Given the description of an element on the screen output the (x, y) to click on. 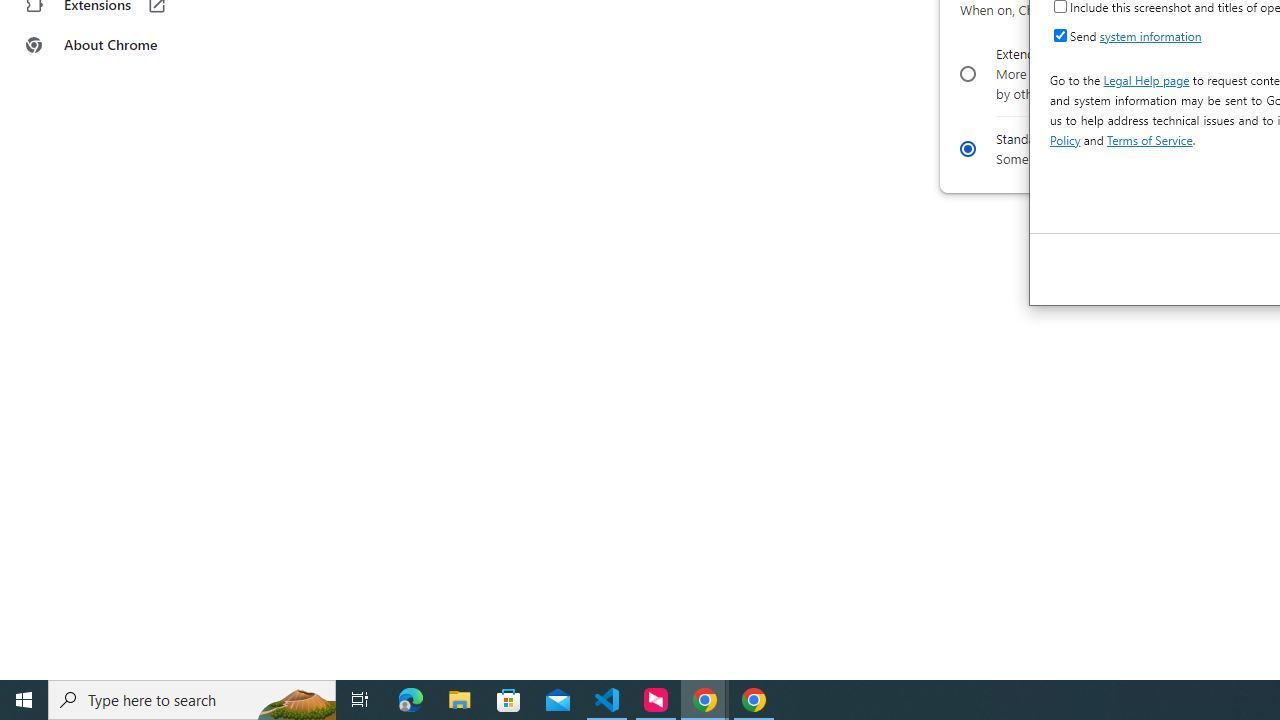
Start (24, 699)
About Chrome (124, 44)
Legal Help page (1146, 79)
Send system information (1060, 34)
File Explorer (460, 699)
Google Chrome - 3 running windows (704, 699)
Microsoft Edge (411, 699)
Search highlights icon opens search home window (295, 699)
Task View (359, 699)
Include this screenshot and titles of open tabs (1060, 6)
Google Chrome - 1 running window (754, 699)
system information (1150, 35)
